Given the description of an element on the screen output the (x, y) to click on. 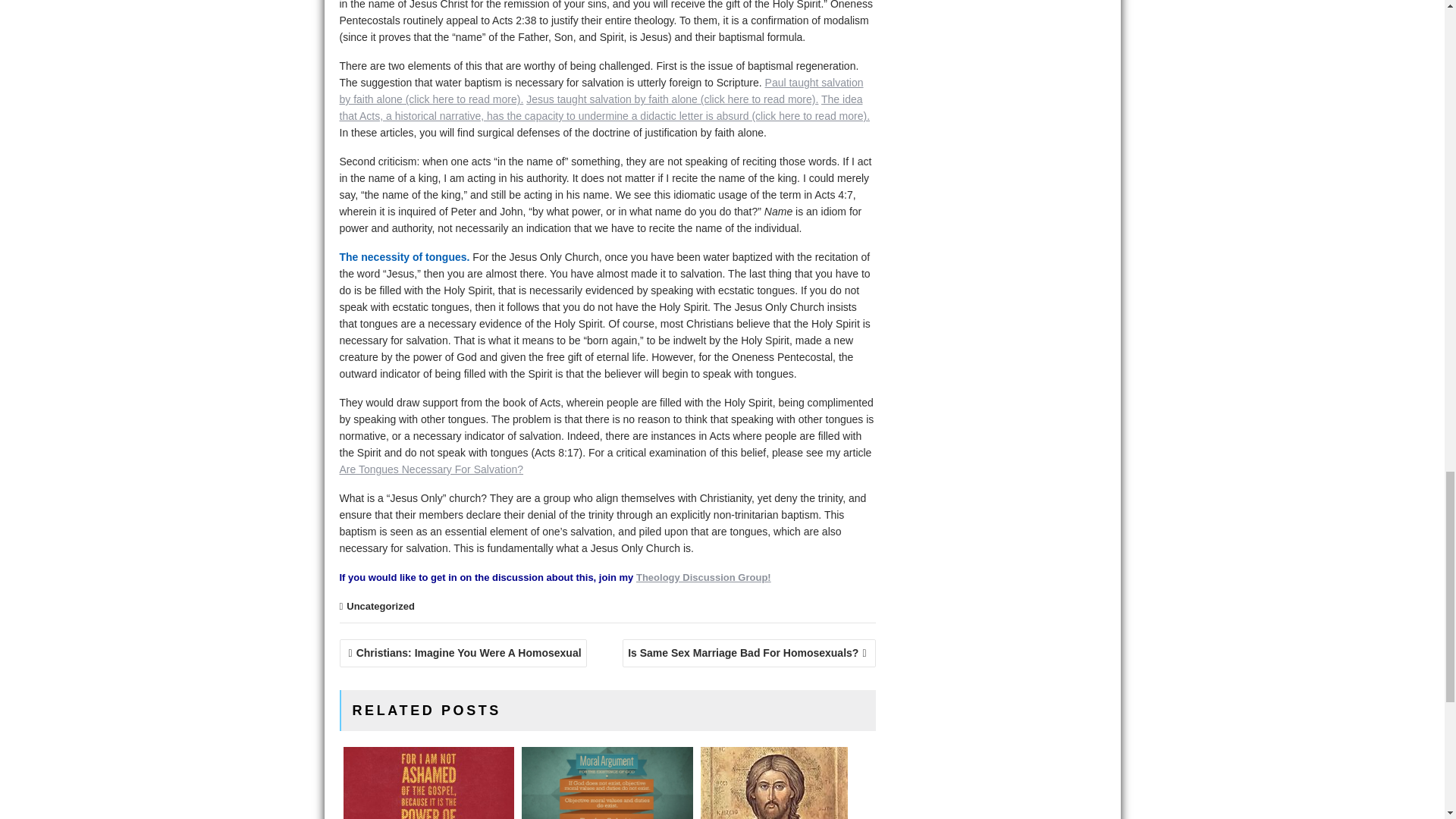
Are Tongues Necessary For Salvation? (431, 469)
Are Tongues Necessary For Salvation? (431, 469)
Christians: Imagine You Were A Homosexual (462, 653)
Theology Discussion Group! (703, 577)
Is Same Sex Marriage Bad For Homosexuals? (749, 653)
Uncategorized (380, 605)
Is Same Sex Marriage Bad For Homosexuals? (749, 653)
Christians: Imagine You Were A Homosexual (462, 653)
Uncategorized (380, 605)
Theology Discussion Group! (703, 577)
